Given the description of an element on the screen output the (x, y) to click on. 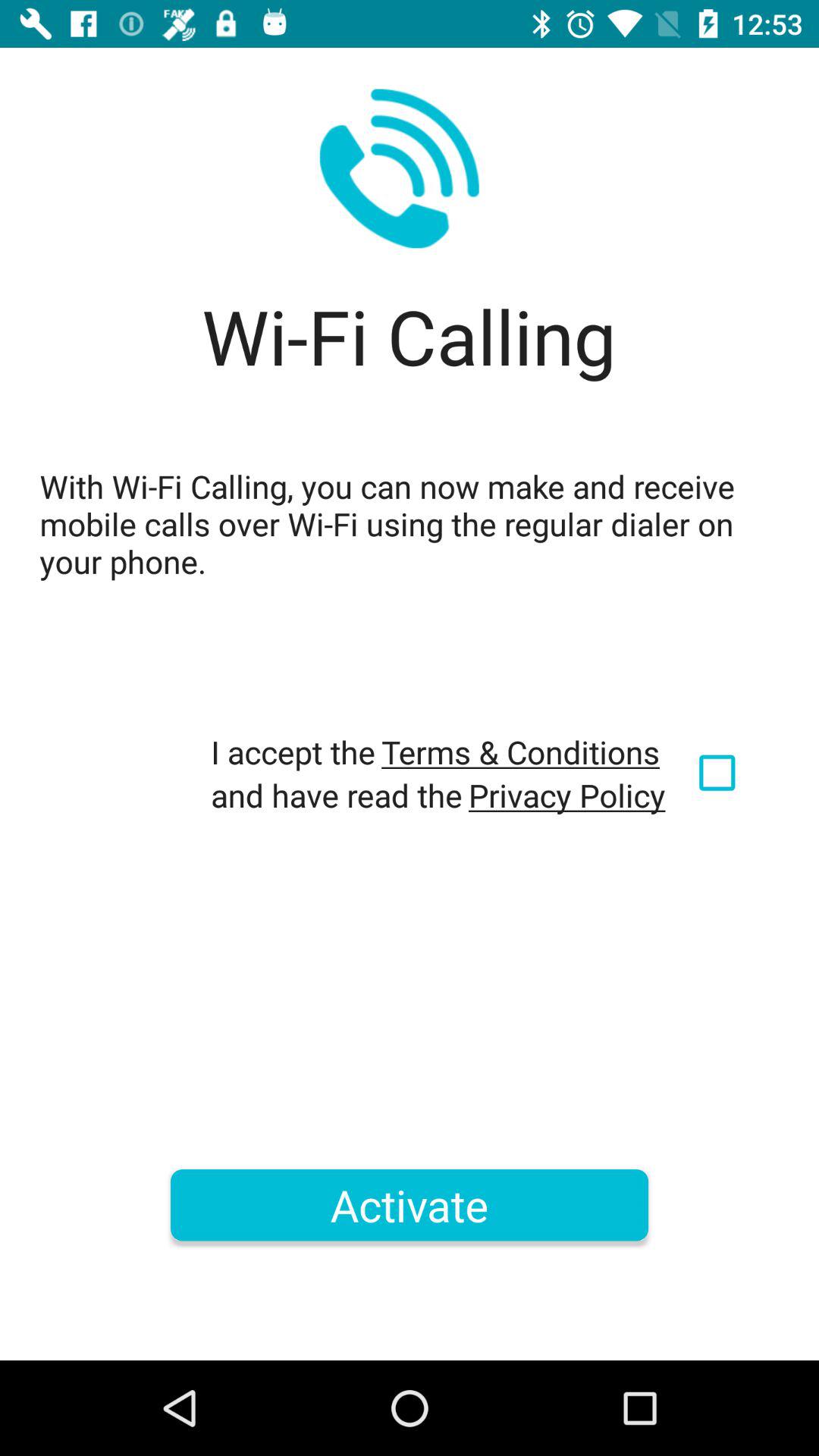
open icon below the with wi fi icon (520, 751)
